Given the description of an element on the screen output the (x, y) to click on. 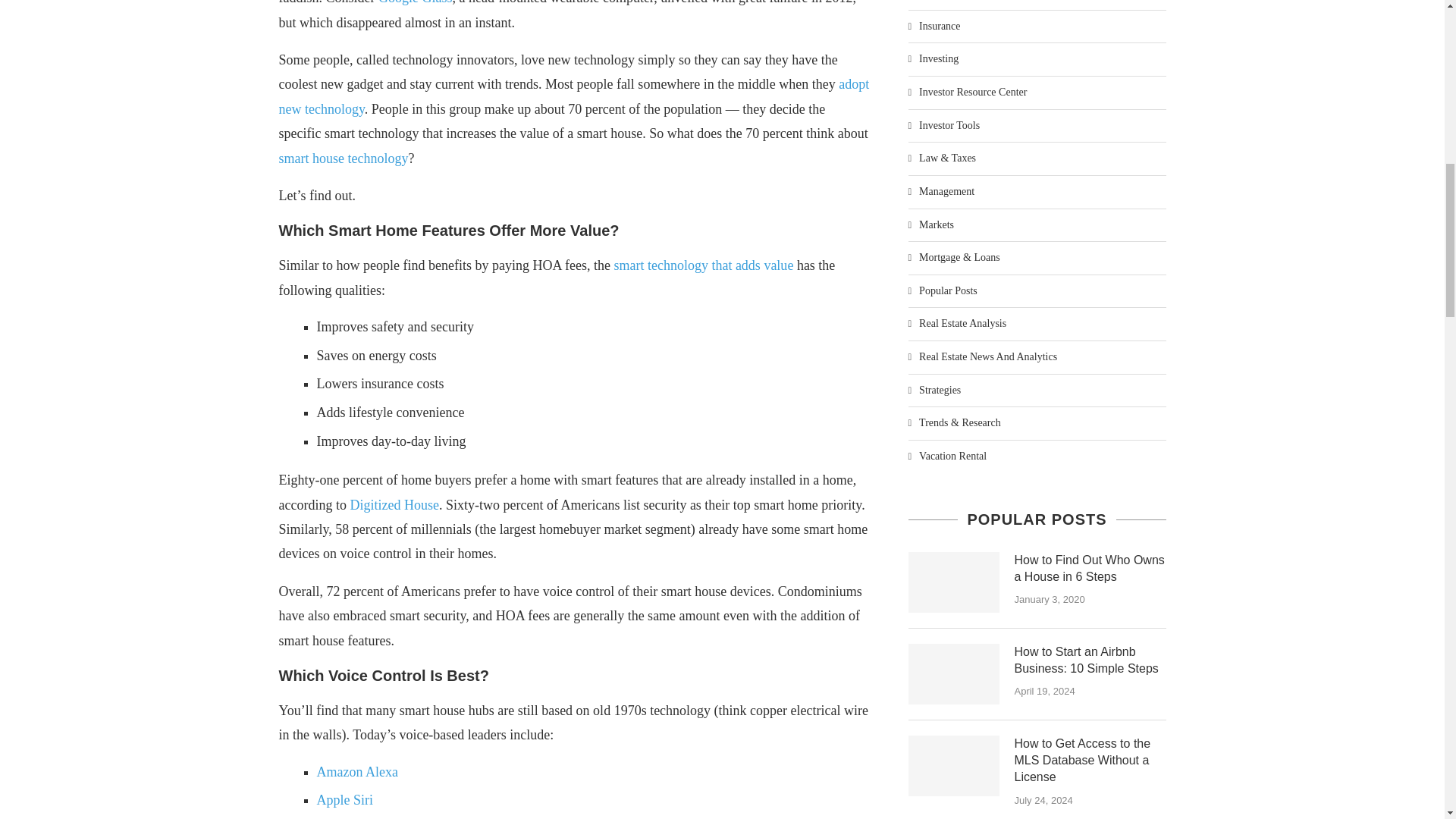
Apple Siri (345, 799)
smart house technology (344, 158)
adopt new technology (574, 96)
Amazon Alexa (357, 771)
Google Glass (415, 2)
smart technology that adds valu (699, 264)
Digitized House (393, 504)
